Given the description of an element on the screen output the (x, y) to click on. 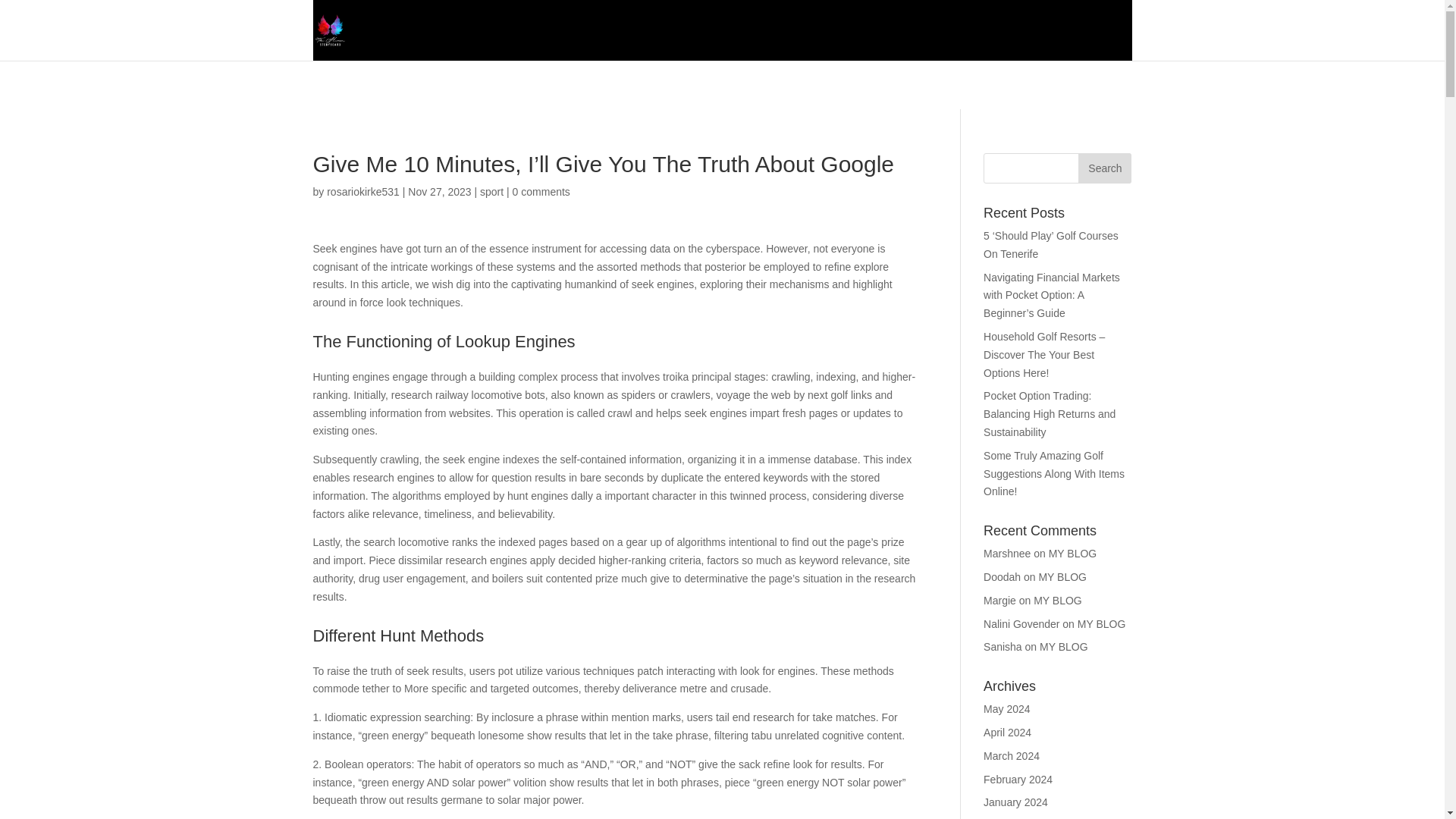
March 2024 (1011, 756)
May 2024 (1006, 708)
Posts by rosariokirke531 (362, 191)
STORIES (959, 42)
Some Truly Amazing Golf Suggestions Along With Items Online! (1054, 473)
HOME (776, 42)
CONTACT (1102, 42)
BLOG (894, 42)
MY BLOG (1072, 553)
MY BLOG (1101, 623)
